Given the description of an element on the screen output the (x, y) to click on. 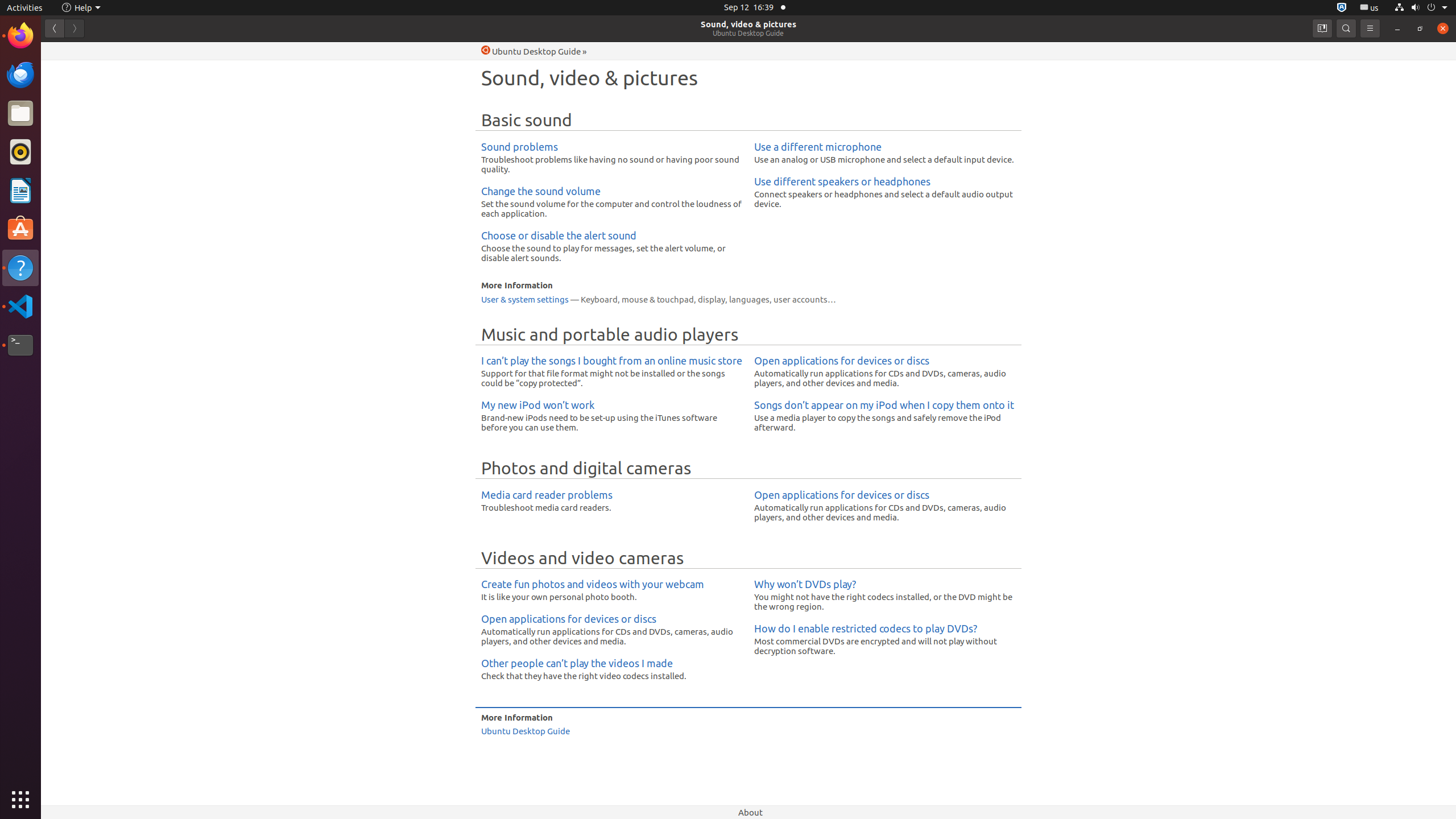
Change the sound volume Set the sound volume for the computer and control the loudness of each application. Element type: link (611, 201)
Sound, video & pictures Element type: label (748, 24)
Create fun photos and videos with your webcam It is like your own personal photo booth. Element type: link (611, 589)
I can’t play the songs I bought from an online music store Support for that file format might not be installed or the songs could be “copy protected”. Element type: link (611, 371)
Close Element type: push-button (1442, 27)
